Given the description of an element on the screen output the (x, y) to click on. 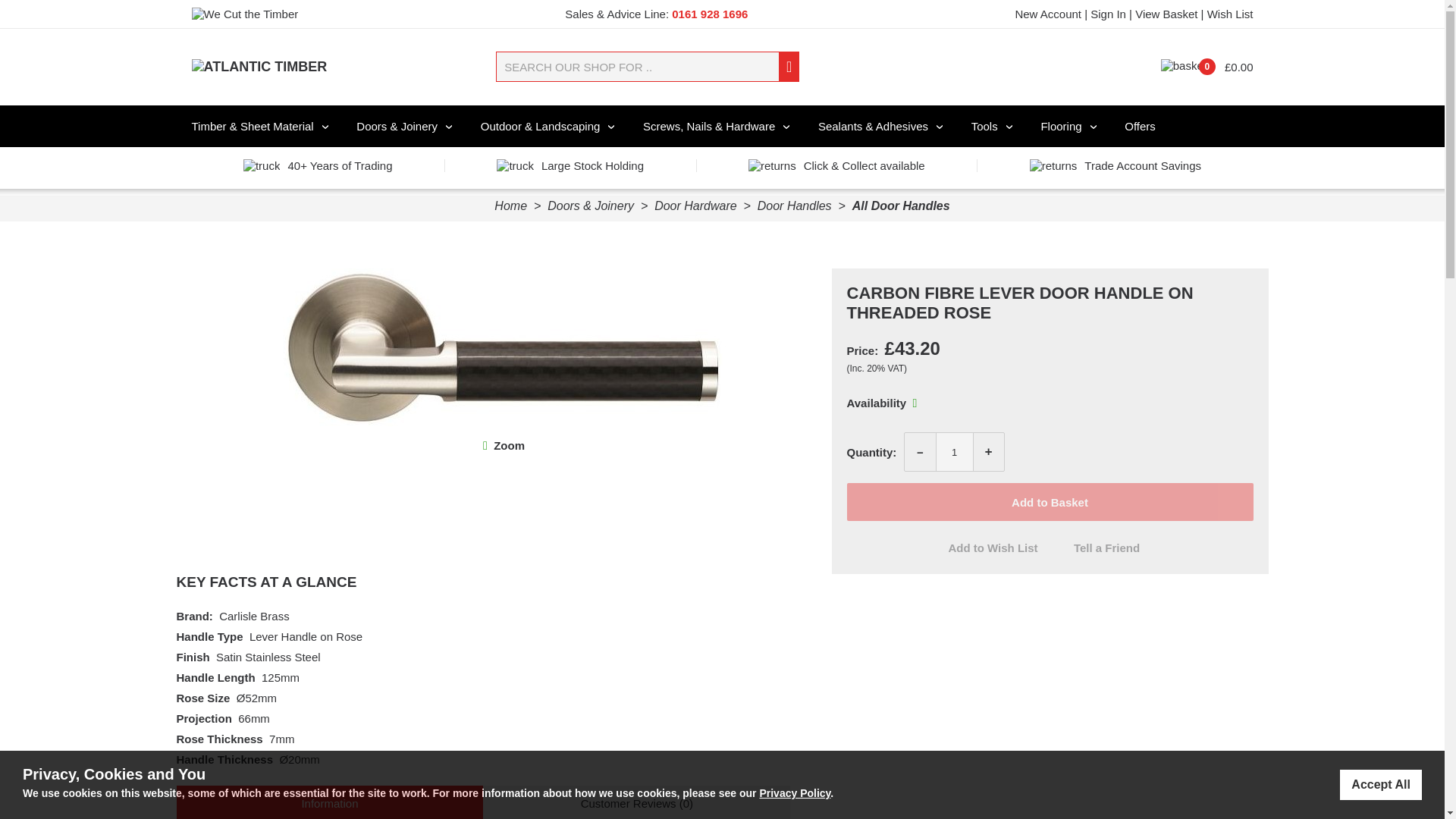
Tell a Friend (1106, 547)
Carbon Fibre Lever Door Handle on Threaded Rose (508, 445)
1 (955, 451)
Zoom (508, 445)
Special Offers (1140, 125)
Add to Basket (1048, 501)
Add to Wish List (992, 547)
Information (329, 802)
Go (788, 67)
Carbon Fibre Lever Door Handle on Threaded Rose (503, 422)
